Given the description of an element on the screen output the (x, y) to click on. 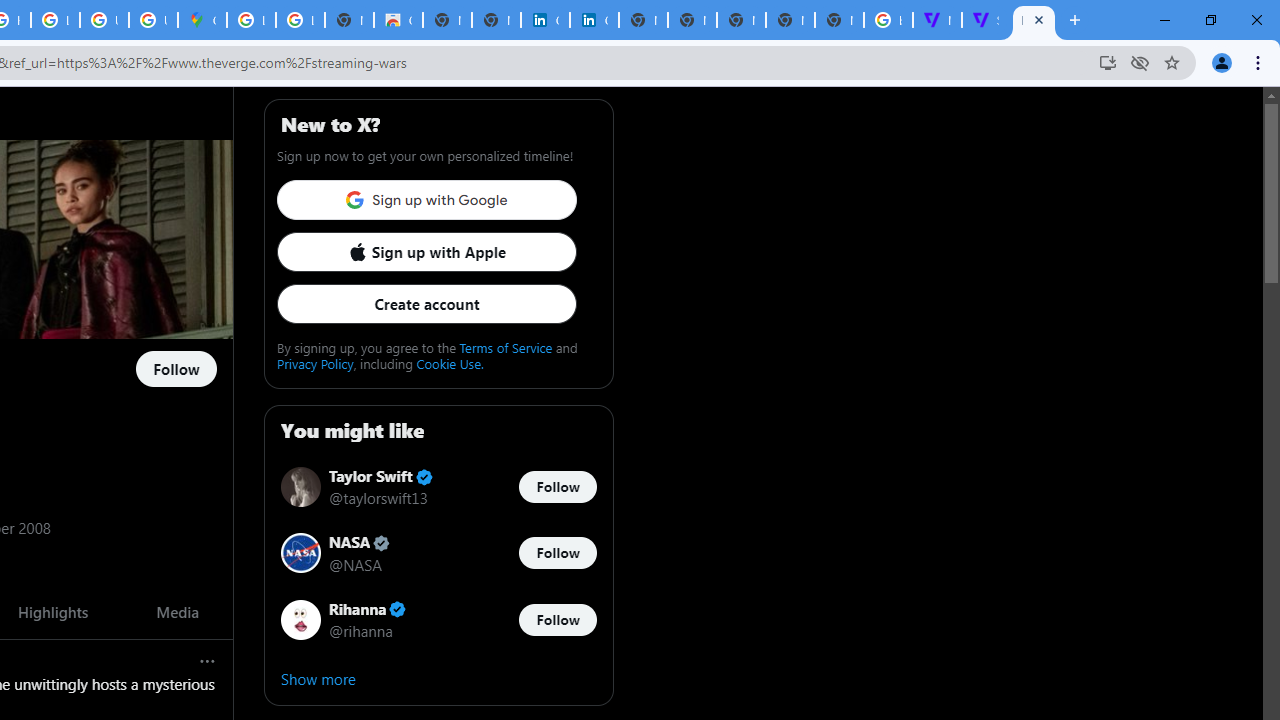
Cookie Policy | LinkedIn (594, 20)
@taylorswift13 (377, 498)
Create account (426, 303)
Follow @NASA (557, 553)
Cookie Policy | LinkedIn (545, 20)
Rihanna Verified account (368, 609)
NASA Verified account (359, 543)
Sign up with Apple (426, 251)
@NASA (354, 564)
Install X (1107, 62)
Streaming - The Verge (985, 20)
